Given the description of an element on the screen output the (x, y) to click on. 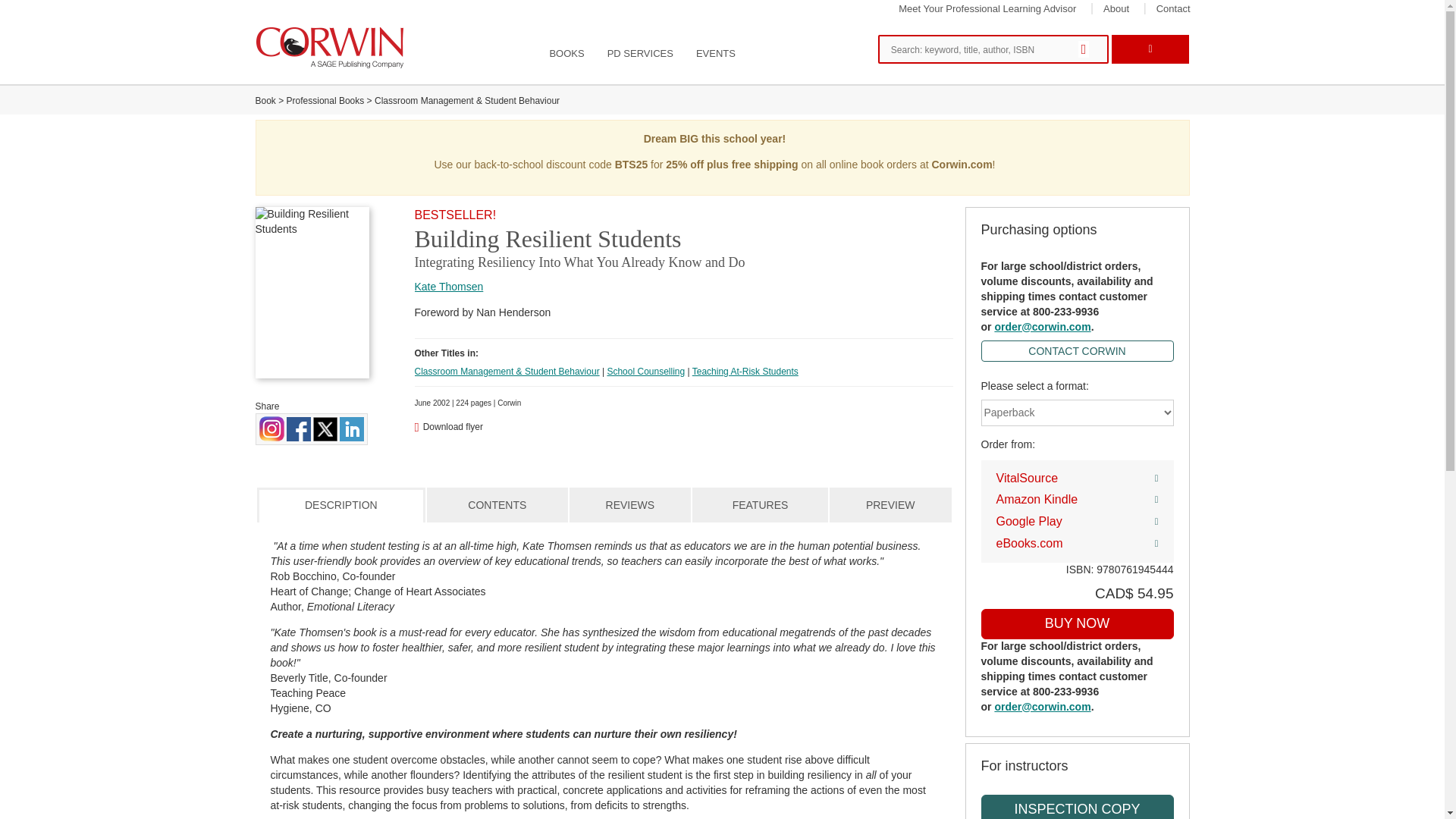
Inspection Copy (1077, 806)
BOOKS (566, 53)
Buy now (1077, 624)
Contact (1173, 8)
Search (1087, 50)
About (1116, 8)
Meet Your Professional Learning Advisor (986, 8)
Home (330, 47)
